Given the description of an element on the screen output the (x, y) to click on. 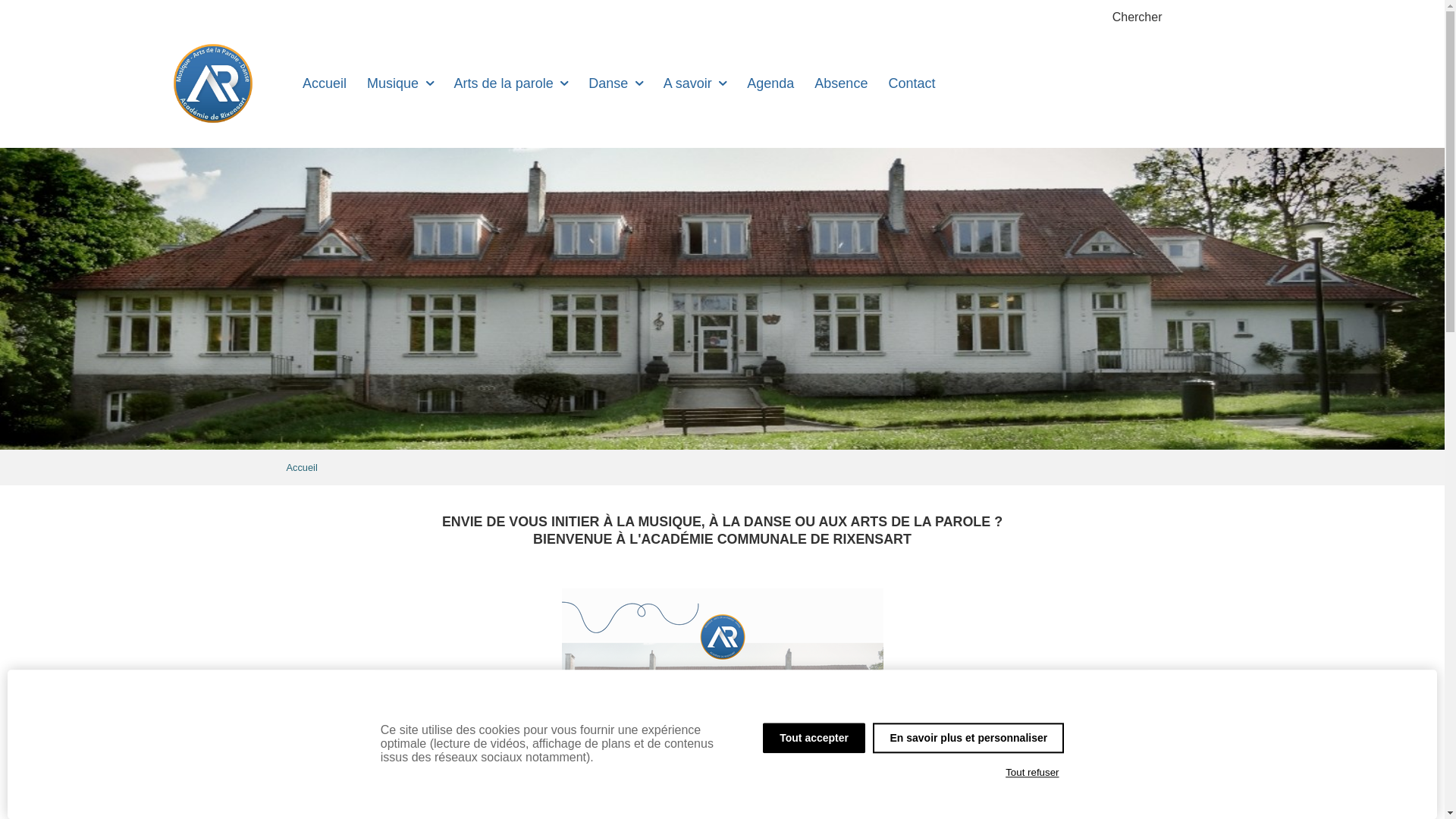
Arts de la parole Element type: text (510, 82)
En savoir plus et personnaliser Element type: text (967, 737)
Danse Element type: text (615, 82)
Contact Element type: text (911, 82)
Musique Element type: text (400, 82)
Tout refuser Element type: text (1032, 772)
Absence Element type: text (841, 82)
Chercher Element type: text (1137, 16)
Accueil Element type: text (324, 82)
A savoir Element type: text (694, 82)
Agenda Element type: text (770, 82)
Accueil Element type: text (301, 467)
Tout accepter Element type: text (813, 737)
